Given the description of an element on the screen output the (x, y) to click on. 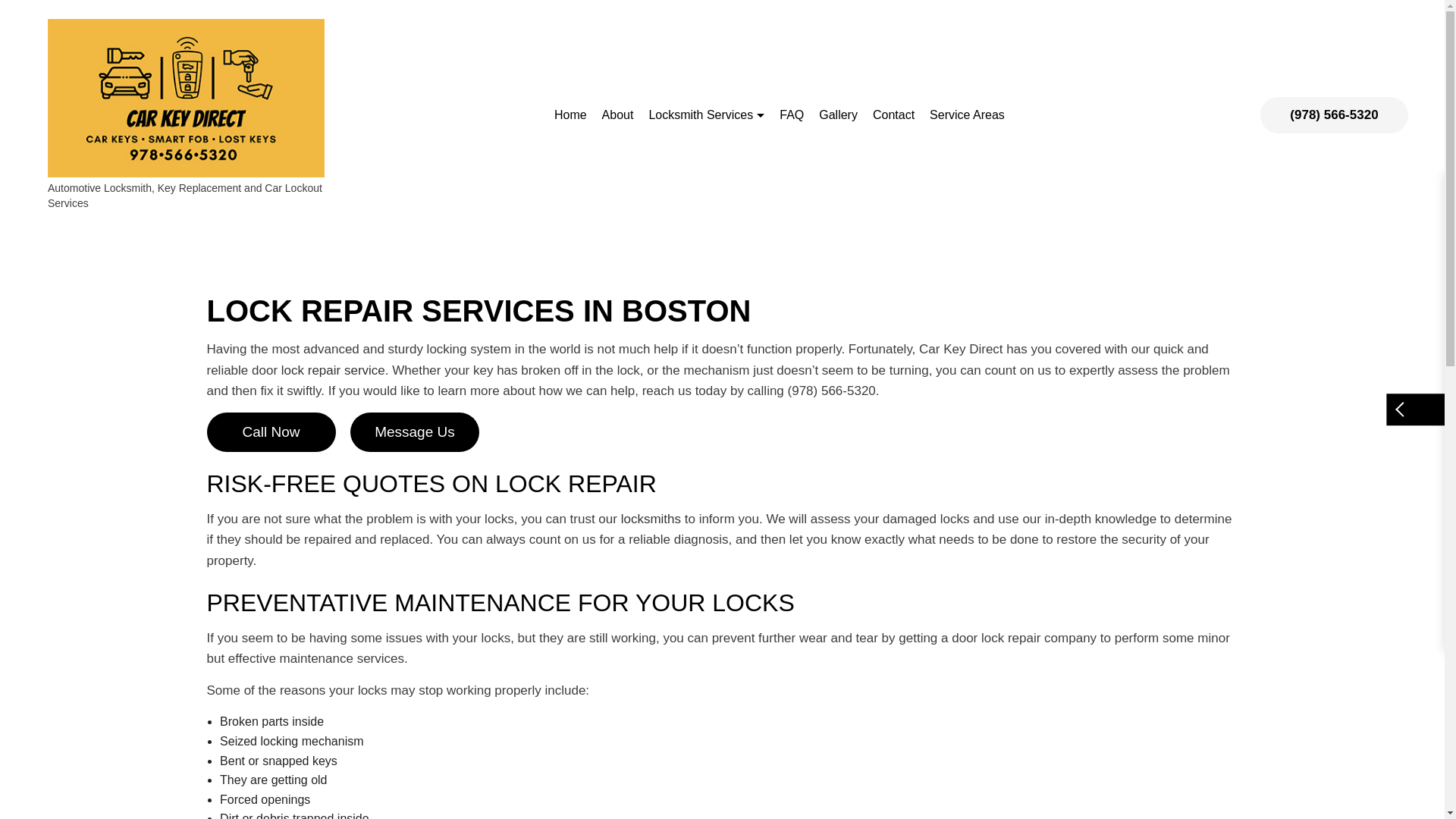
Gallery (837, 115)
Locksmith (782, 228)
Rekey Locks (586, 254)
Learn more about Locksmith Services (651, 518)
Service Areas (966, 115)
Lock Repair Services (586, 228)
24-Hour Locksmith (586, 175)
Learn more about Lock Repair Services (333, 370)
Locksmith Services (705, 115)
About (618, 115)
Car Key Direct (186, 96)
Automotive Locksmith (782, 175)
Home (570, 115)
Call Now (270, 432)
lock repair service (333, 370)
